Given the description of an element on the screen output the (x, y) to click on. 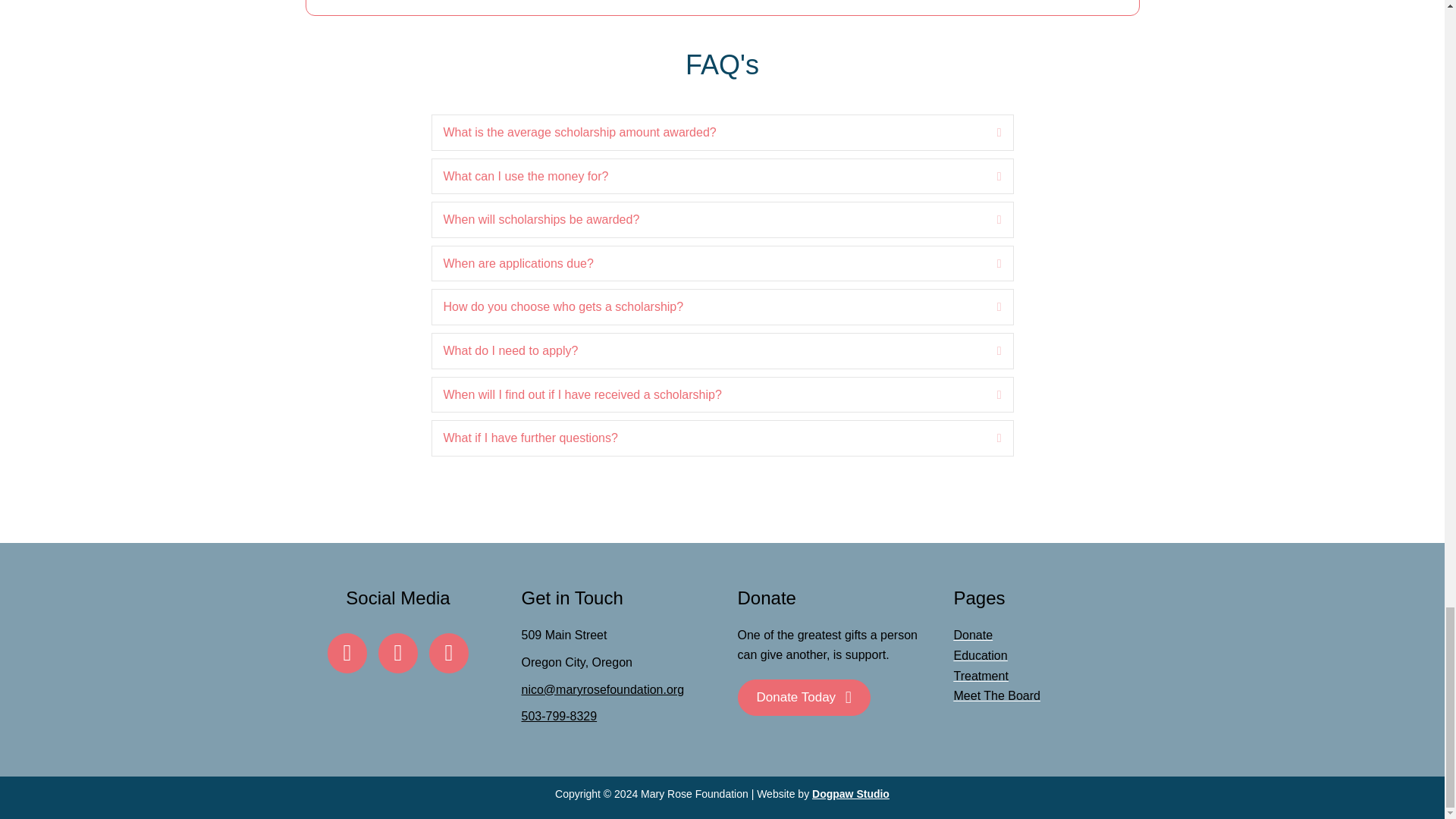
Expand (987, 351)
When will scholarships be awarded? (708, 219)
What if I have further questions? (708, 437)
Expand (987, 394)
Expand (987, 132)
How do you choose who gets a scholarship? (708, 306)
When will I find out if I have received a scholarship? (708, 394)
What do I need to apply? (708, 351)
Expand (987, 263)
Expand (987, 176)
